Given the description of an element on the screen output the (x, y) to click on. 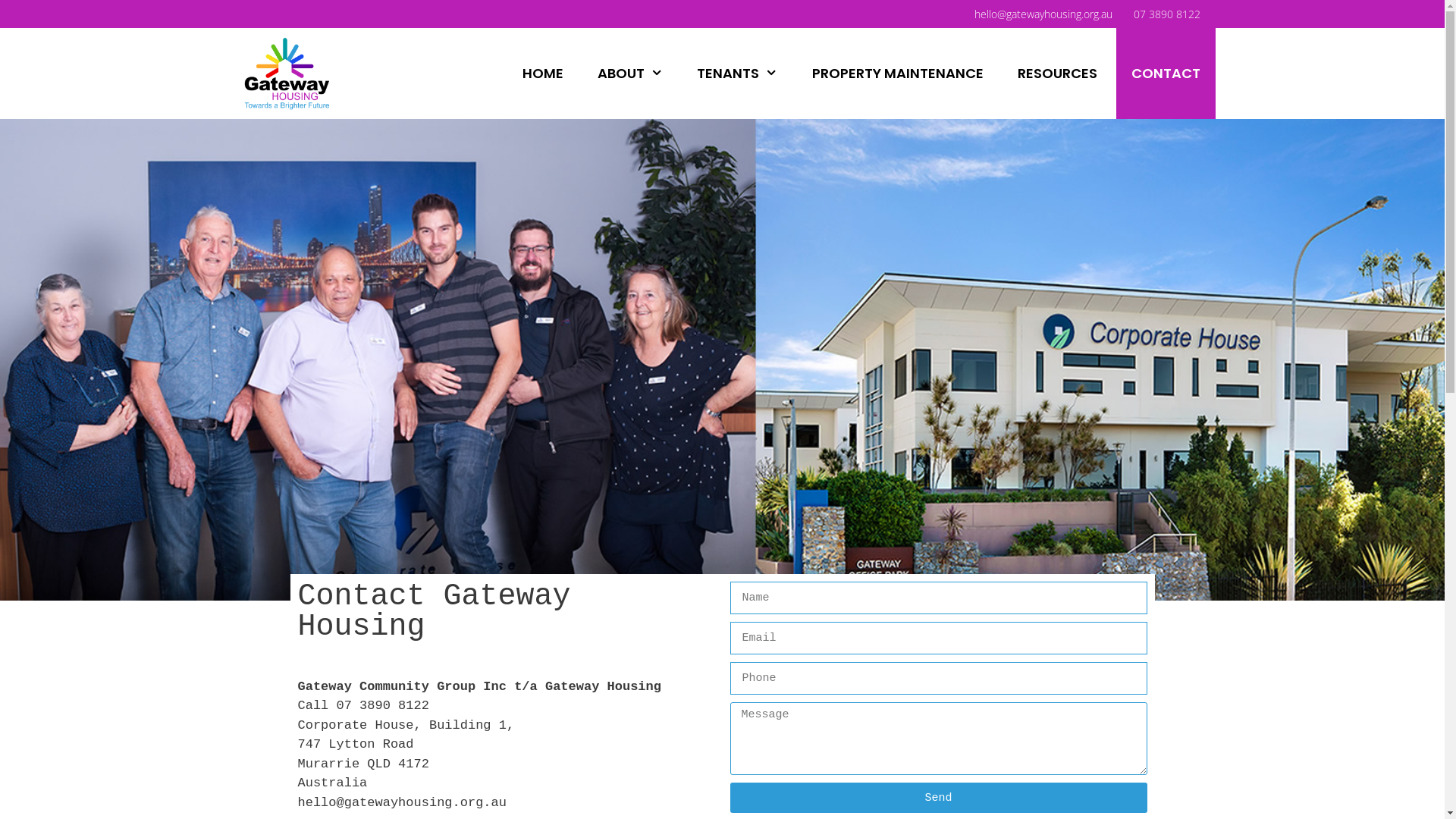
CONTACT Element type: text (1165, 73)
 hello@gatewayhousing.org.au Element type: text (1048, 13)
RESOURCES Element type: text (1057, 73)
 07 3890 8122 Element type: text (1171, 13)
HOME Element type: text (542, 73)
PROPERTY MAINTENANCE Element type: text (897, 73)
Gateway Housing Element type: hover (290, 73)
TENANTS Element type: text (736, 73)
Send Element type: text (937, 797)
Gateway Housing Element type: hover (286, 73)
ABOUT Element type: text (629, 73)
